Given the description of an element on the screen output the (x, y) to click on. 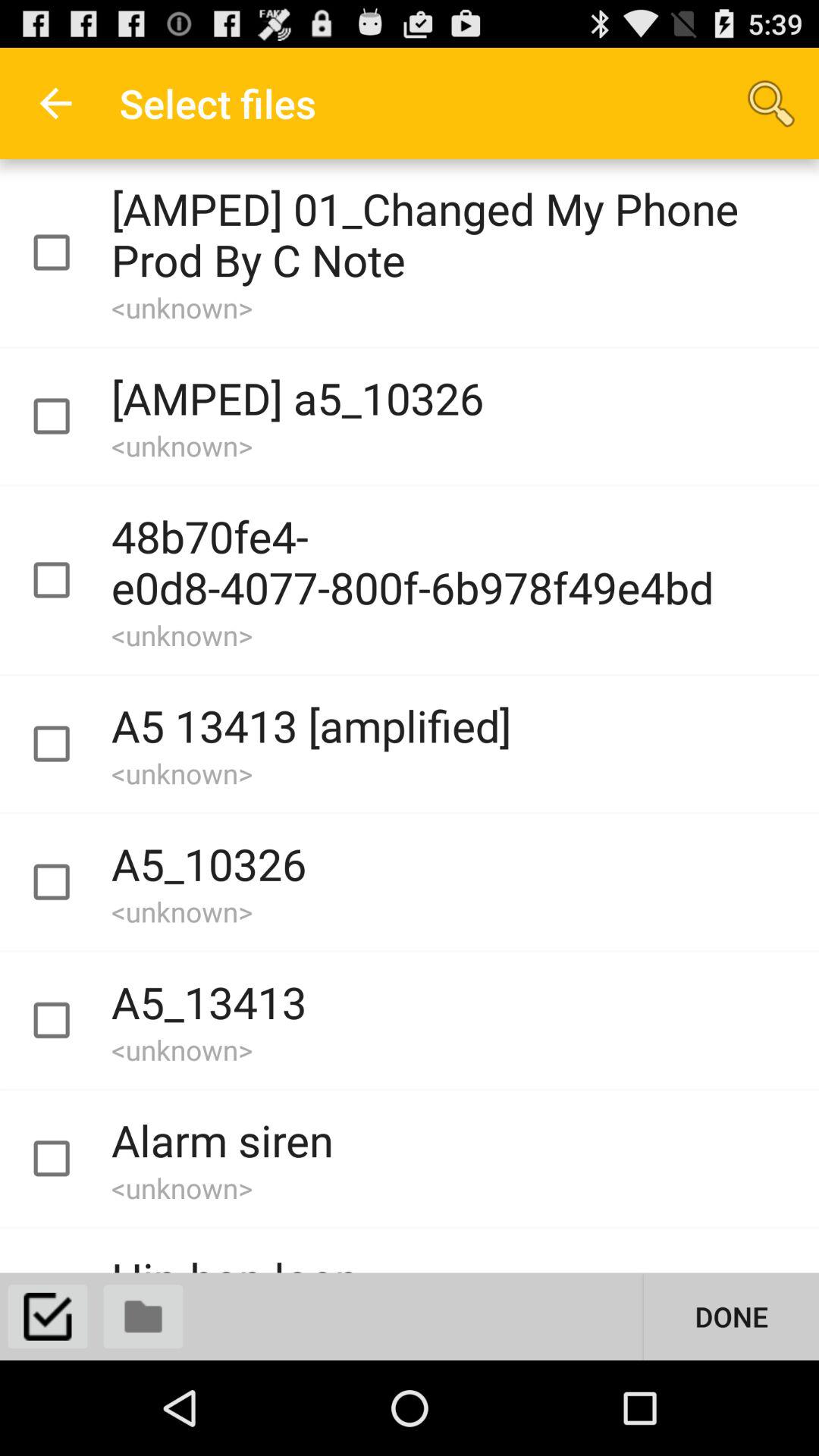
tap done button (731, 1316)
